Given the description of an element on the screen output the (x, y) to click on. 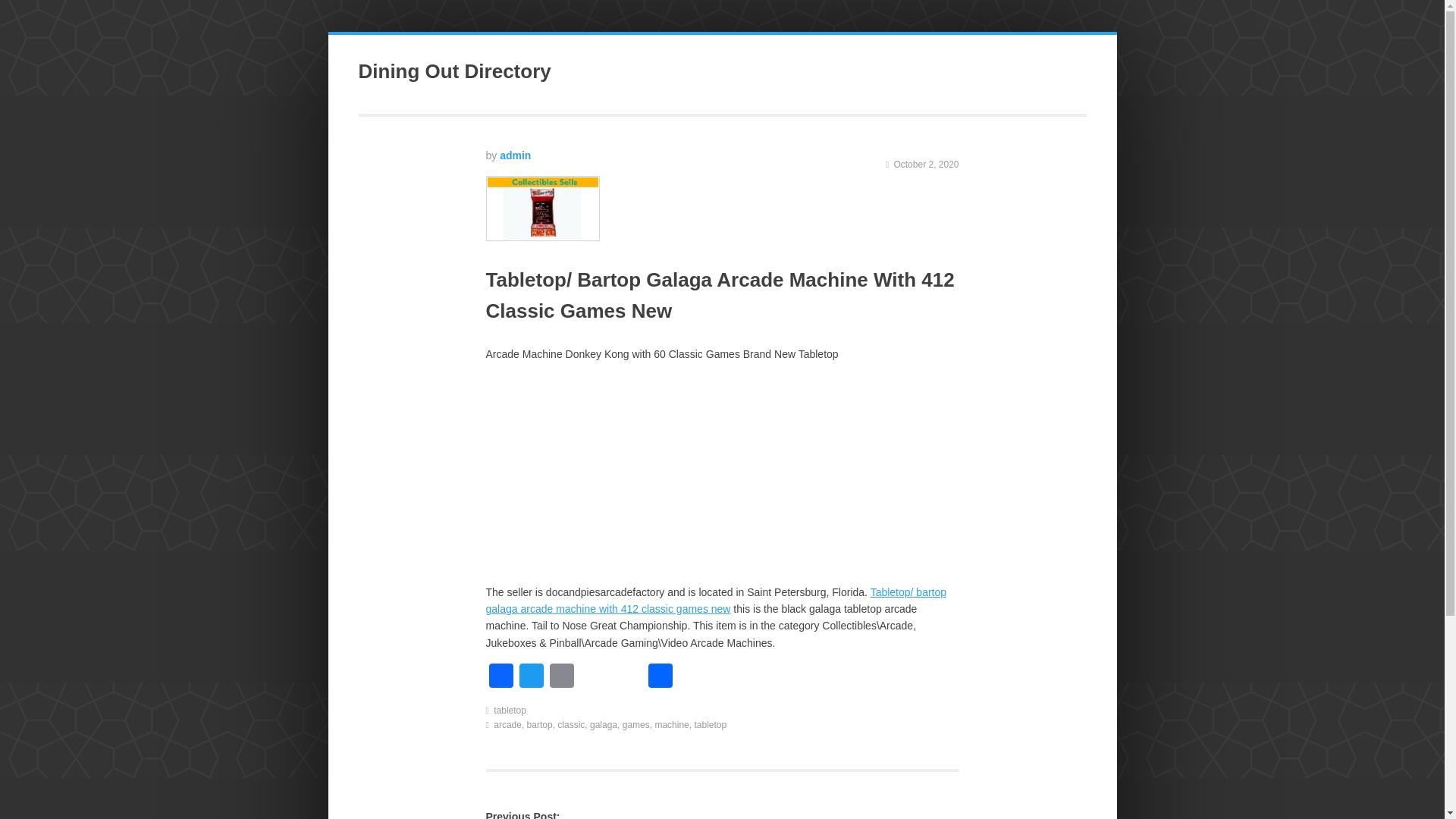
Email (561, 677)
Twitter (530, 677)
Facebook (499, 677)
Twitter (530, 677)
Dining Out Directory (454, 70)
bartop (540, 724)
classic (571, 724)
machine (670, 724)
admin (515, 155)
Facebook (499, 677)
